Given the description of an element on the screen output the (x, y) to click on. 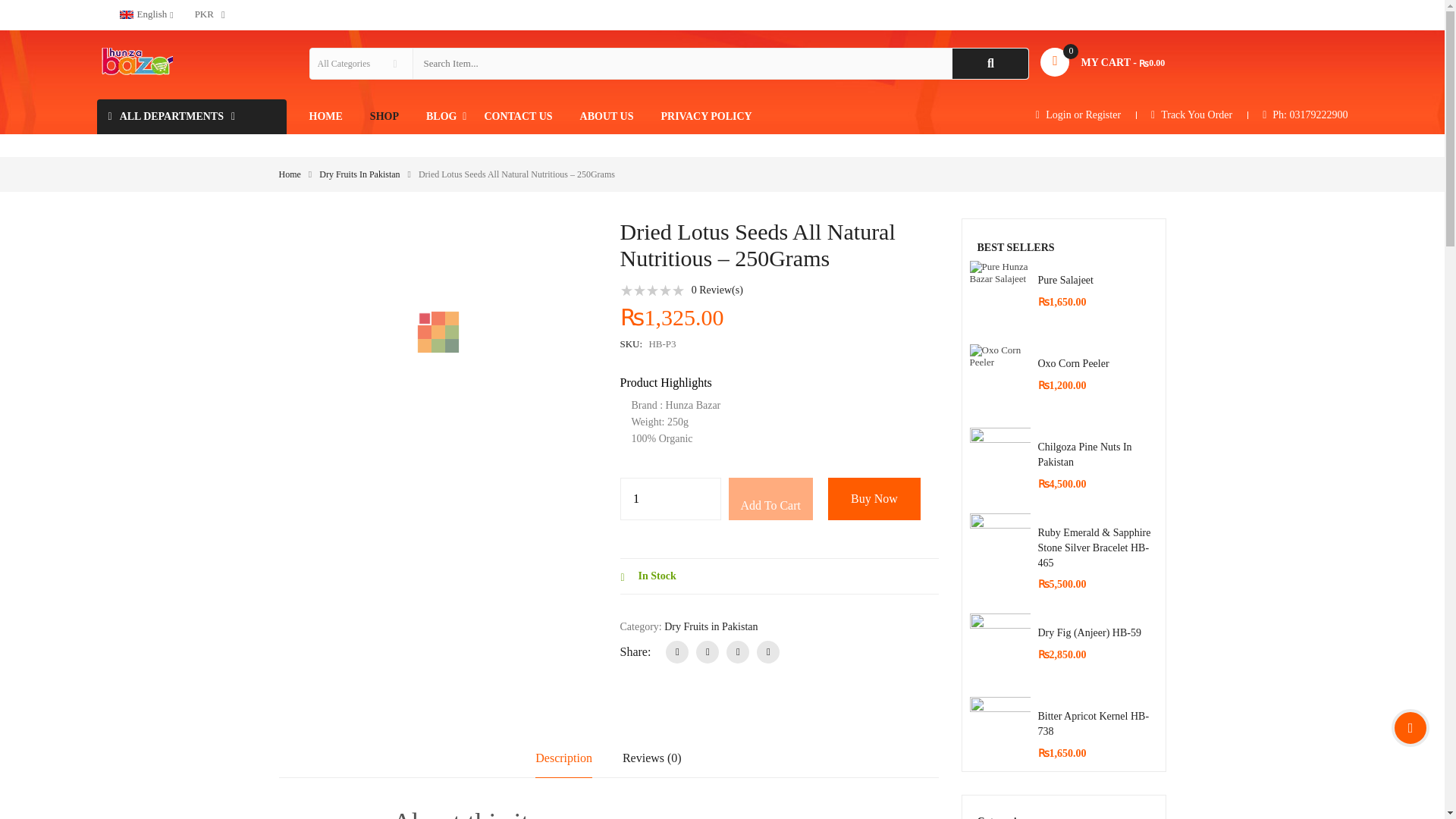
PKR (204, 15)
English (126, 14)
Pure Salajeet (1064, 279)
Register (1102, 114)
English (140, 15)
Oxo Corn Peeler (999, 373)
Pure Salajeet (999, 291)
